Given the description of an element on the screen output the (x, y) to click on. 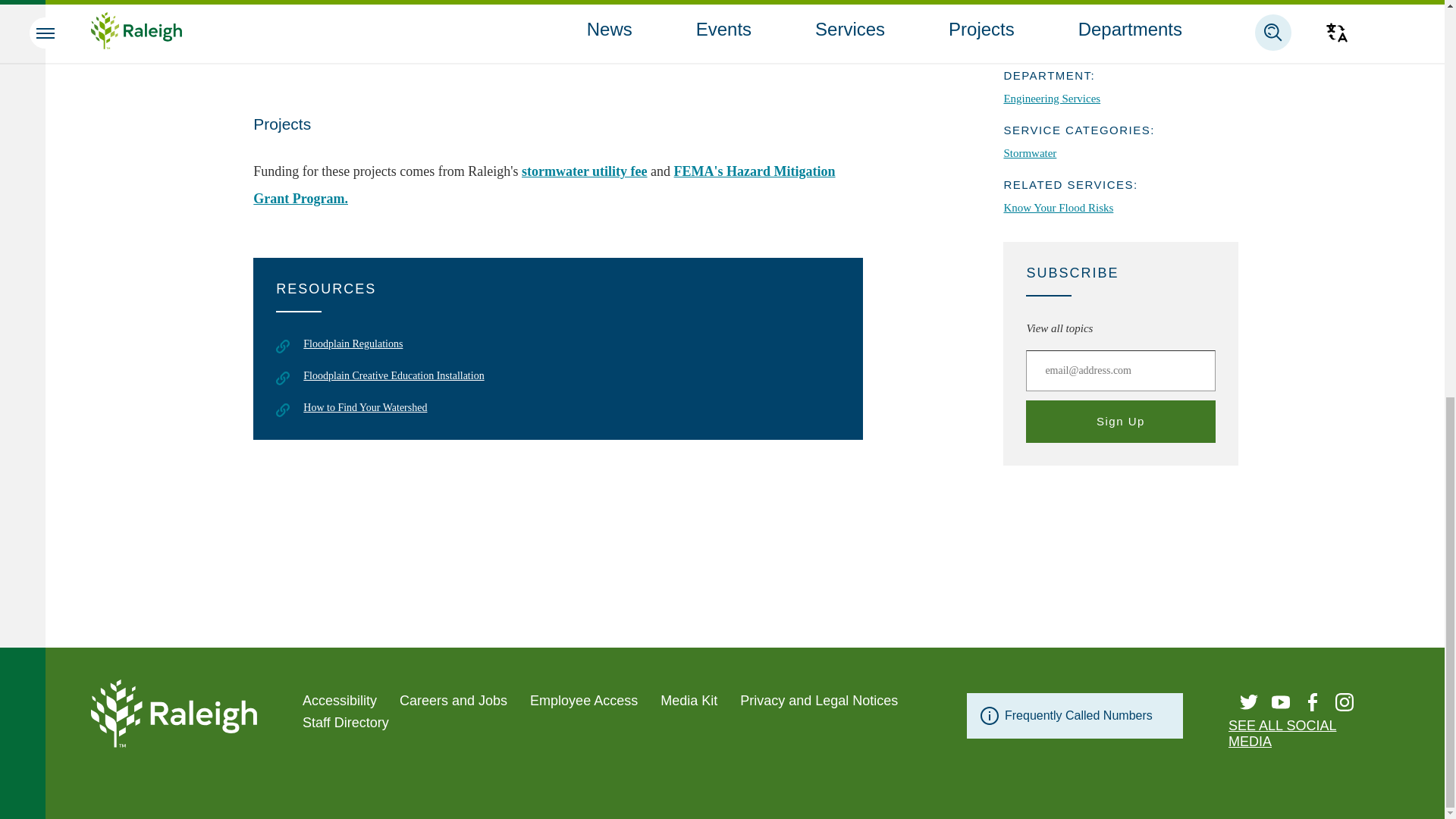
Stormwater (1068, 9)
Link to Raleigh's Instagram Page (1344, 701)
Link to Raleigh's Twitter Page (1248, 701)
Link to Raleigh's Facebook Page (1312, 701)
Link to Raleigh's Youtube Page (1280, 701)
Sign Up (1120, 421)
